Given the description of an element on the screen output the (x, y) to click on. 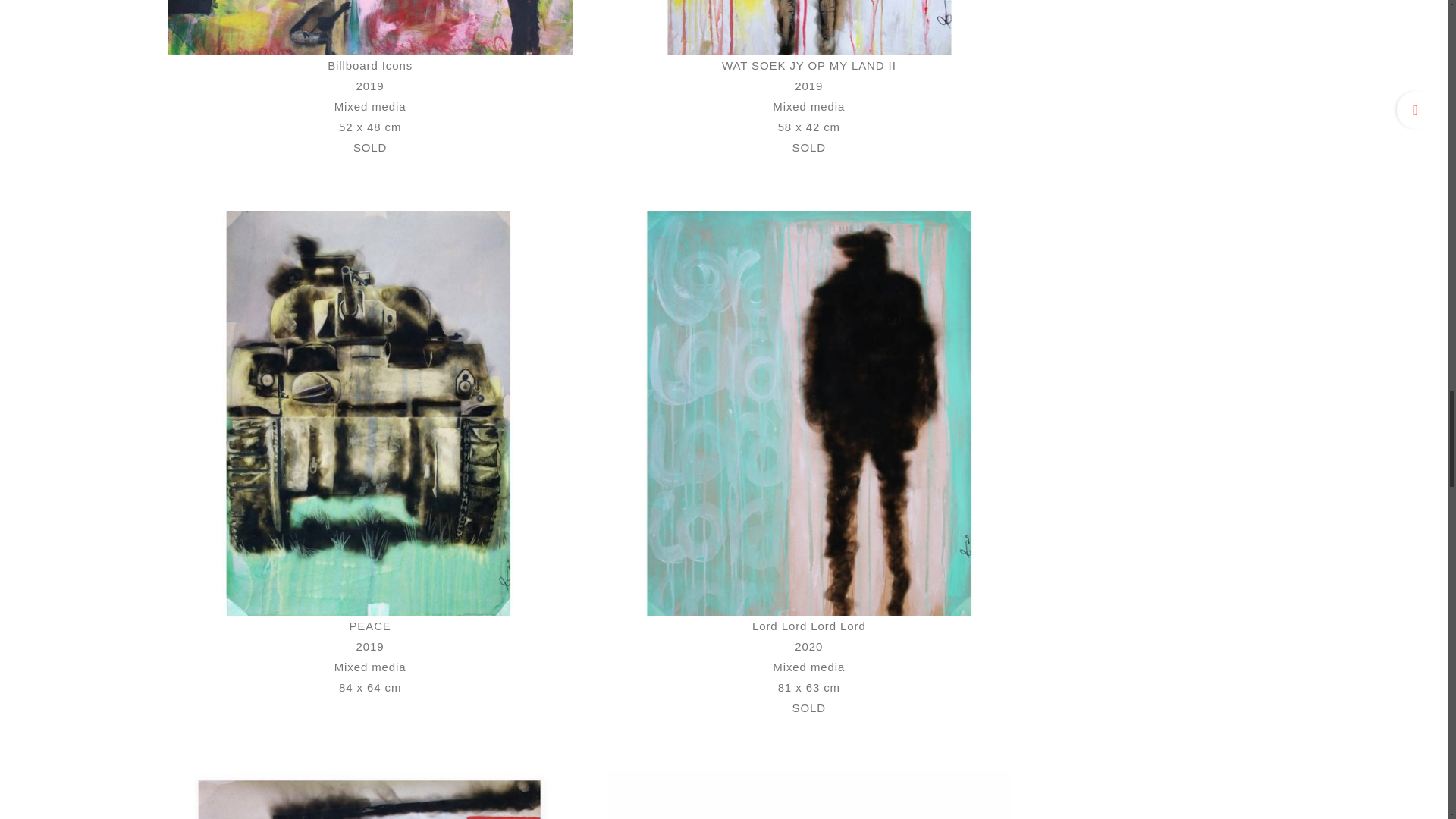
Ofentse Seshabela Asina Mali 2019 Mixed media 62 x 84 cm (369, 776)
Ofentse Seshabela Peace 2019 Mixed media 84 x 64 cm (369, 215)
